Given the description of an element on the screen output the (x, y) to click on. 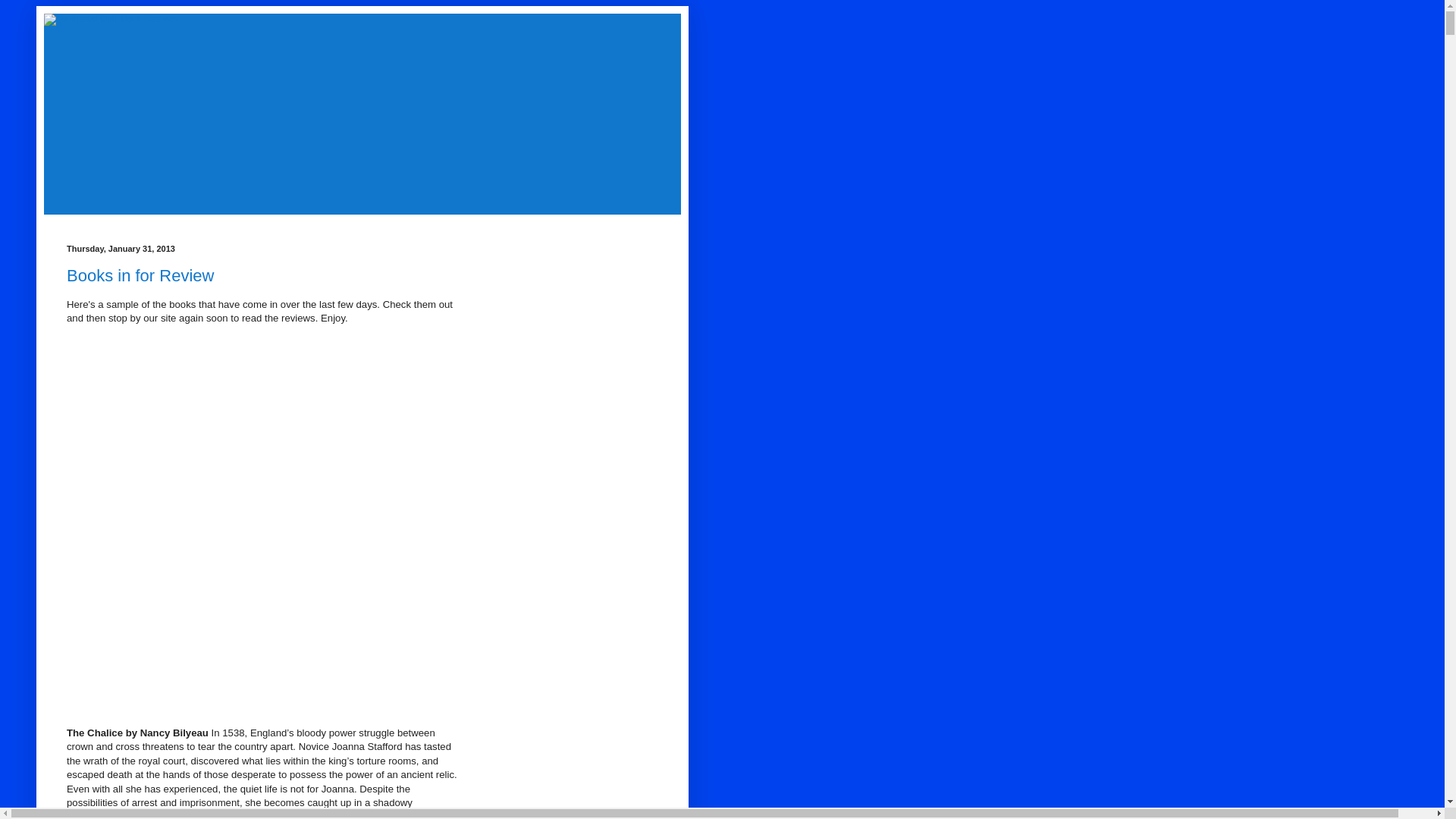
Books in for Review (140, 275)
